Given the description of an element on the screen output the (x, y) to click on. 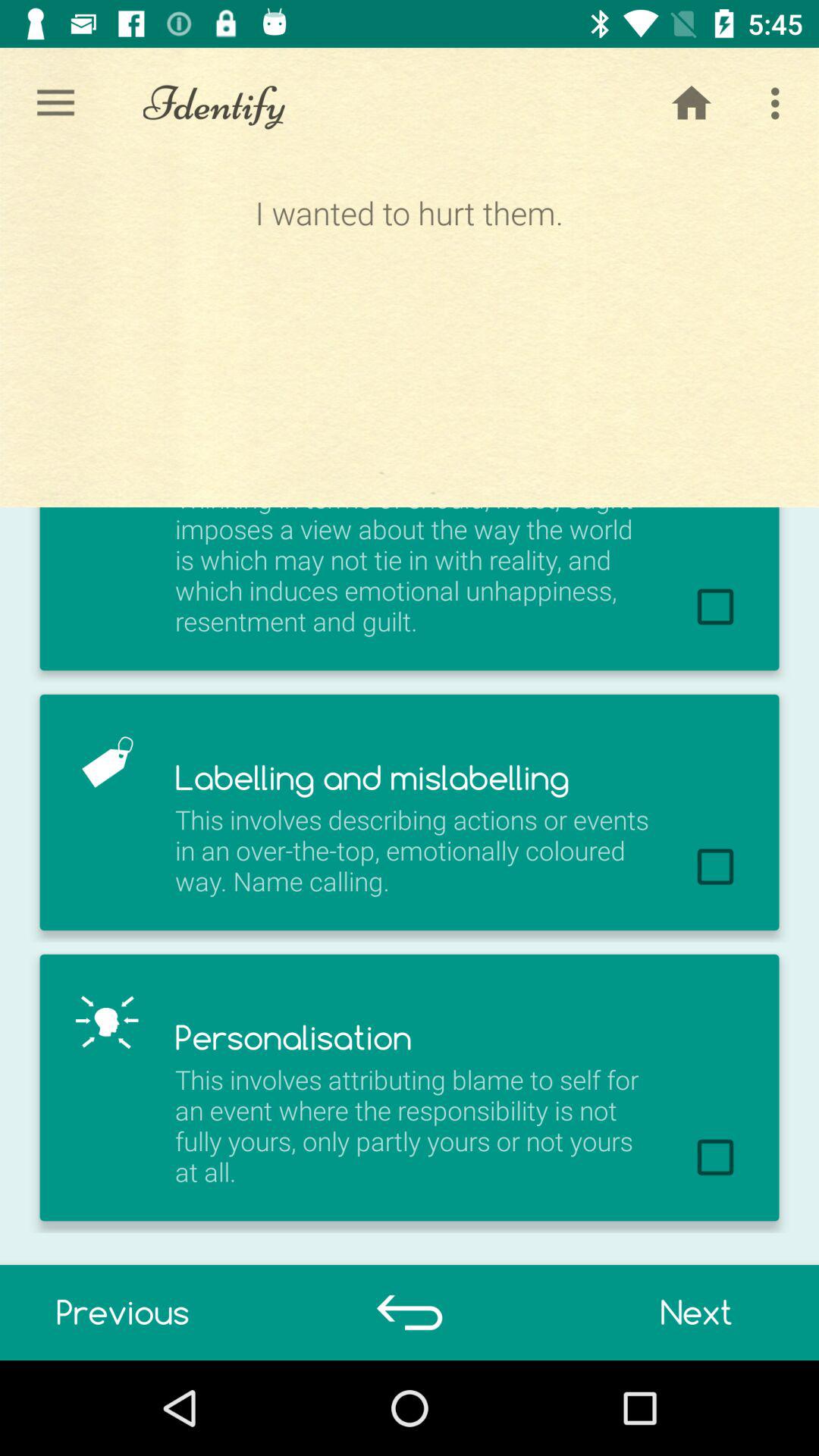
select the item to the right of the identify icon (691, 103)
